Given the description of an element on the screen output the (x, y) to click on. 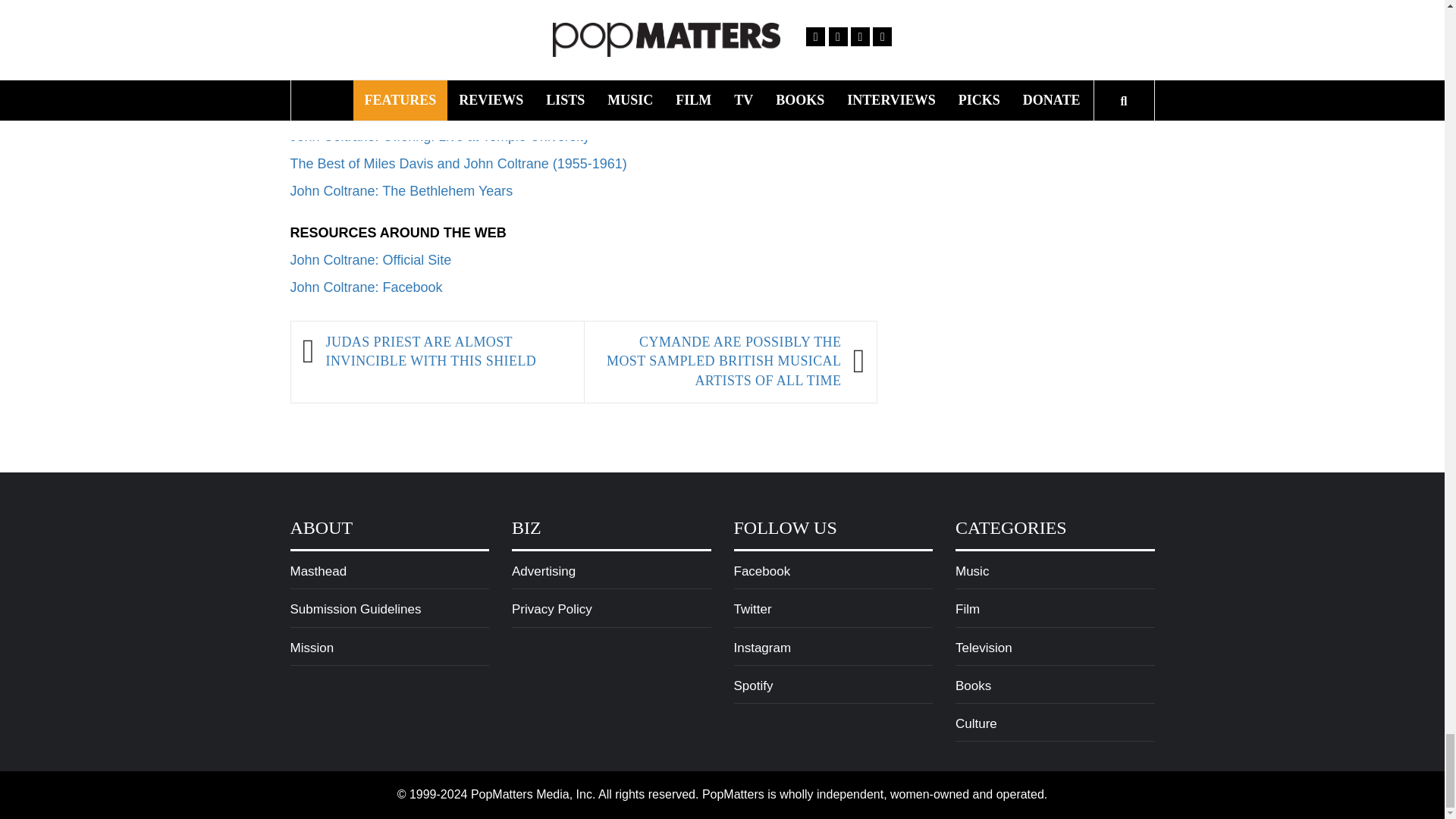
A 'Dear John' Letter to Jazz: To Hell with Loving You (446, 55)
A 'Dear John' Letter to Jazz: To Hell with Loving You (446, 55)
John Coltrane: The Bethlehem Years (400, 191)
Celebrating John Coltrane, Personally (404, 82)
Celebrating John Coltrane, Personally (404, 82)
John Coltrane: Offering: Live at Temple University (439, 136)
John Coltrane: Facebook (365, 287)
John Coltrane: Official Site (370, 259)
